Given the description of an element on the screen output the (x, y) to click on. 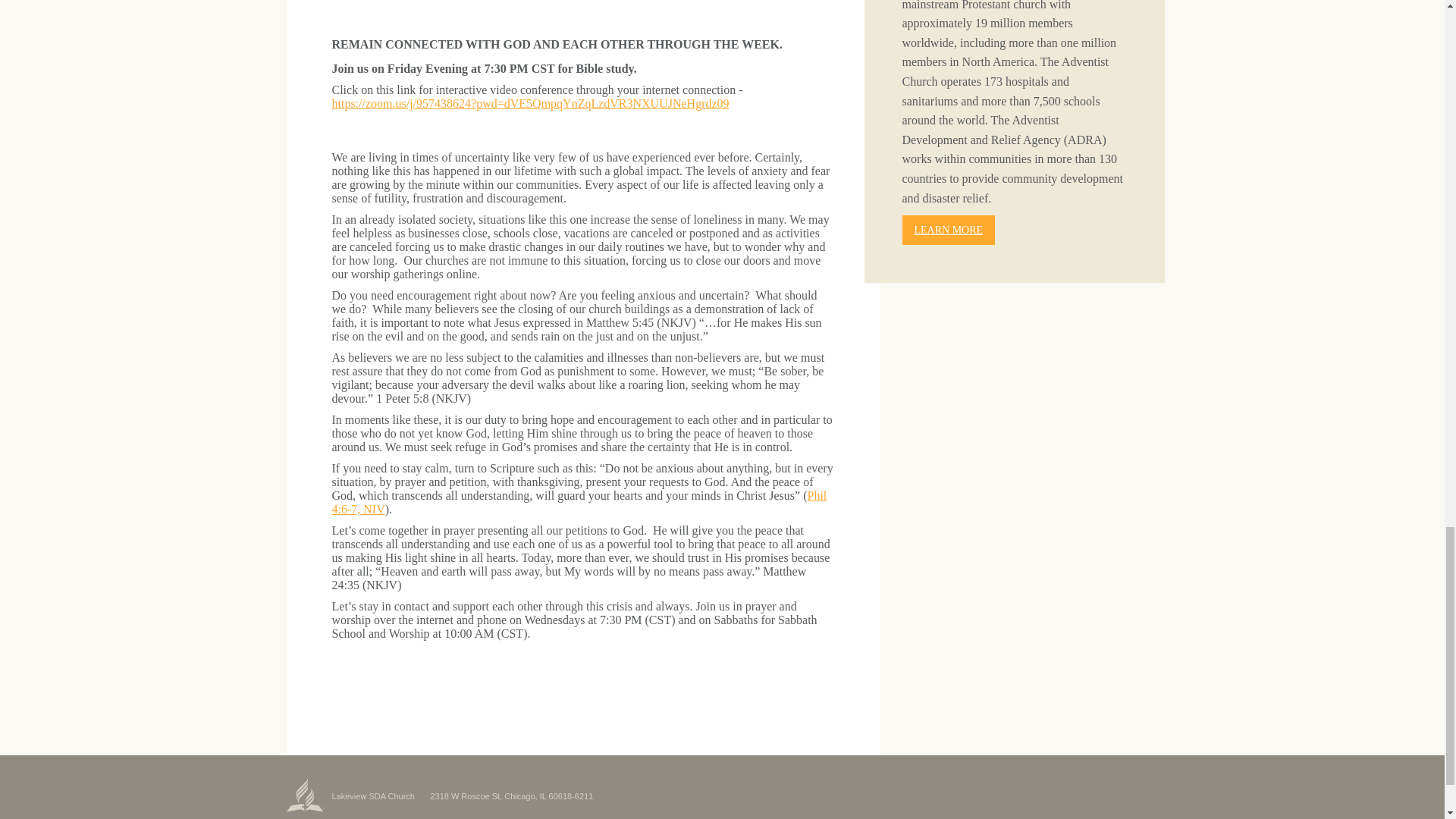
Phil 4:6-7, NIV (579, 501)
LEARN MORE (948, 229)
Seventh-day Adventist Logo (305, 794)
